Given the description of an element on the screen output the (x, y) to click on. 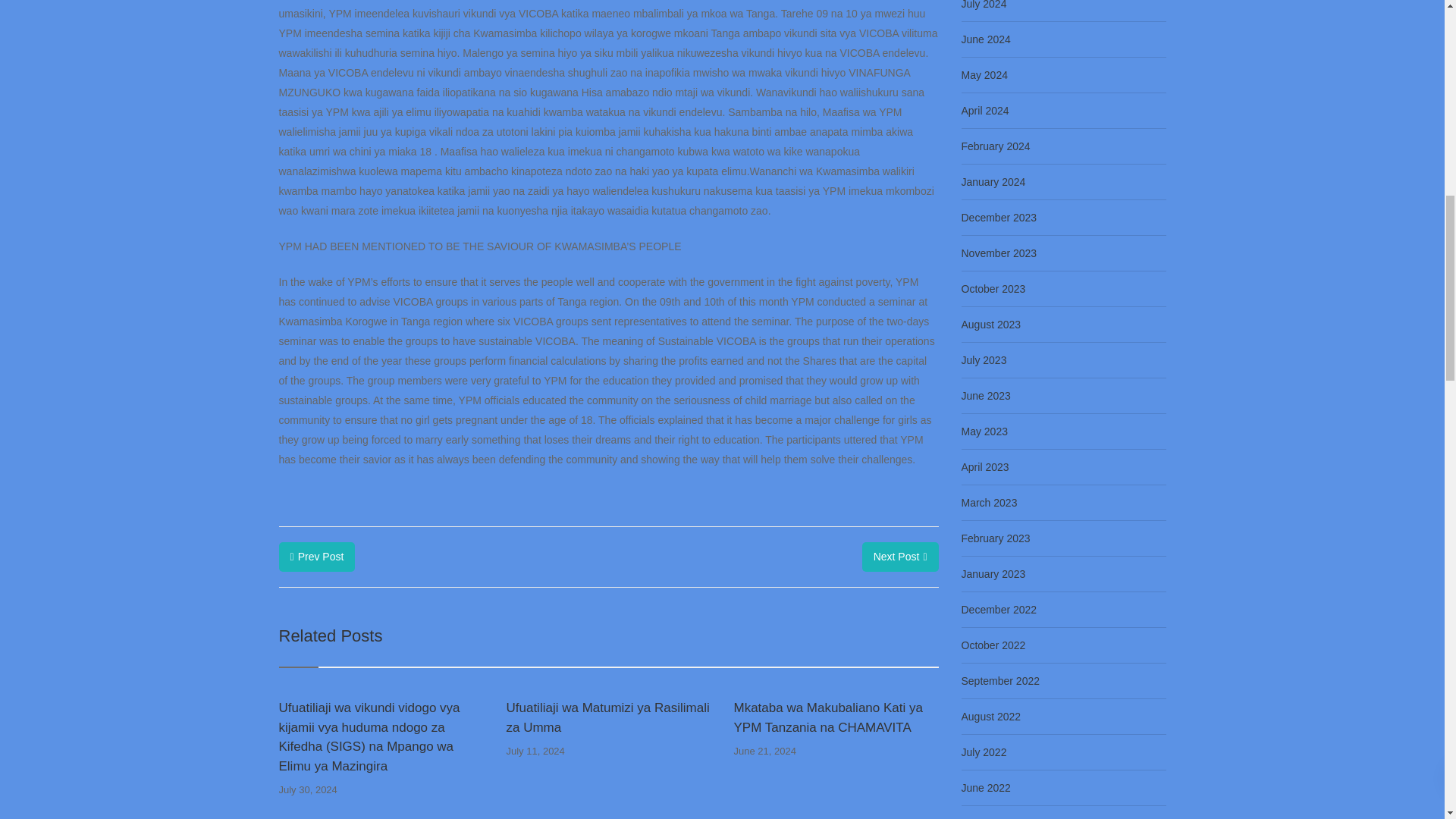
February 2024 (995, 146)
Mkataba wa Makubaliano Kati ya YPM Tanzania na CHAMAVITA (835, 717)
April 2024 (984, 110)
October 2023 (993, 288)
July 2024 (983, 7)
Prev Post (317, 556)
June 2024 (985, 38)
November 2023 (998, 252)
Next Post (900, 556)
January 2024 (993, 181)
May 2024 (983, 74)
August 2023 (991, 323)
Ufuatiliaji wa Matumizi ya Rasilimali za Umma (607, 717)
December 2023 (998, 217)
